Given the description of an element on the screen output the (x, y) to click on. 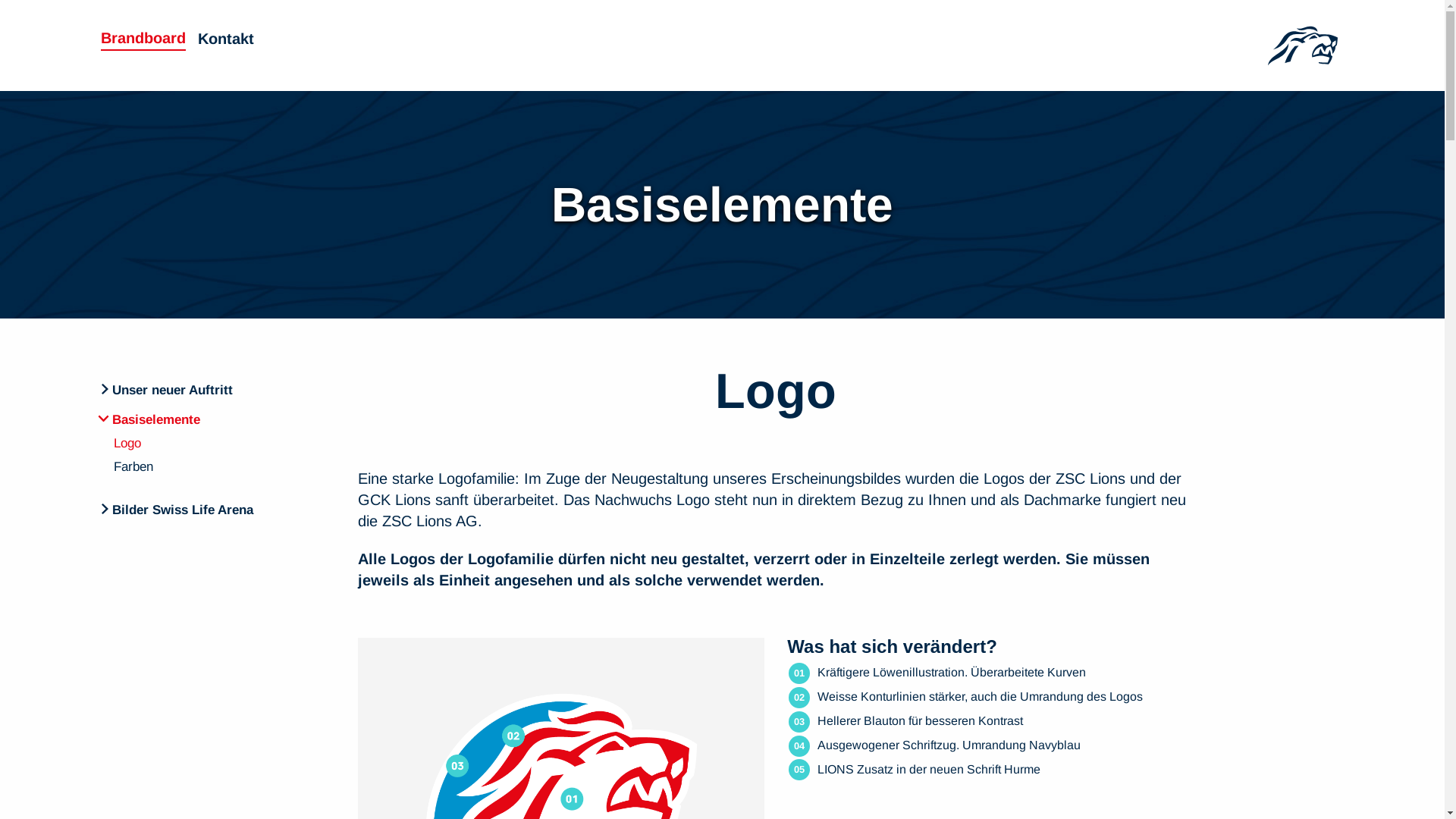
Brandboard Element type: text (142, 40)
Unser neuer Auftritt Element type: text (212, 386)
Kontakt Element type: text (225, 40)
Bilder Swiss Life Arena Element type: text (212, 505)
Farben Element type: text (218, 467)
Basiselemente Element type: text (212, 415)
Logo Element type: text (218, 443)
